Given the description of an element on the screen output the (x, y) to click on. 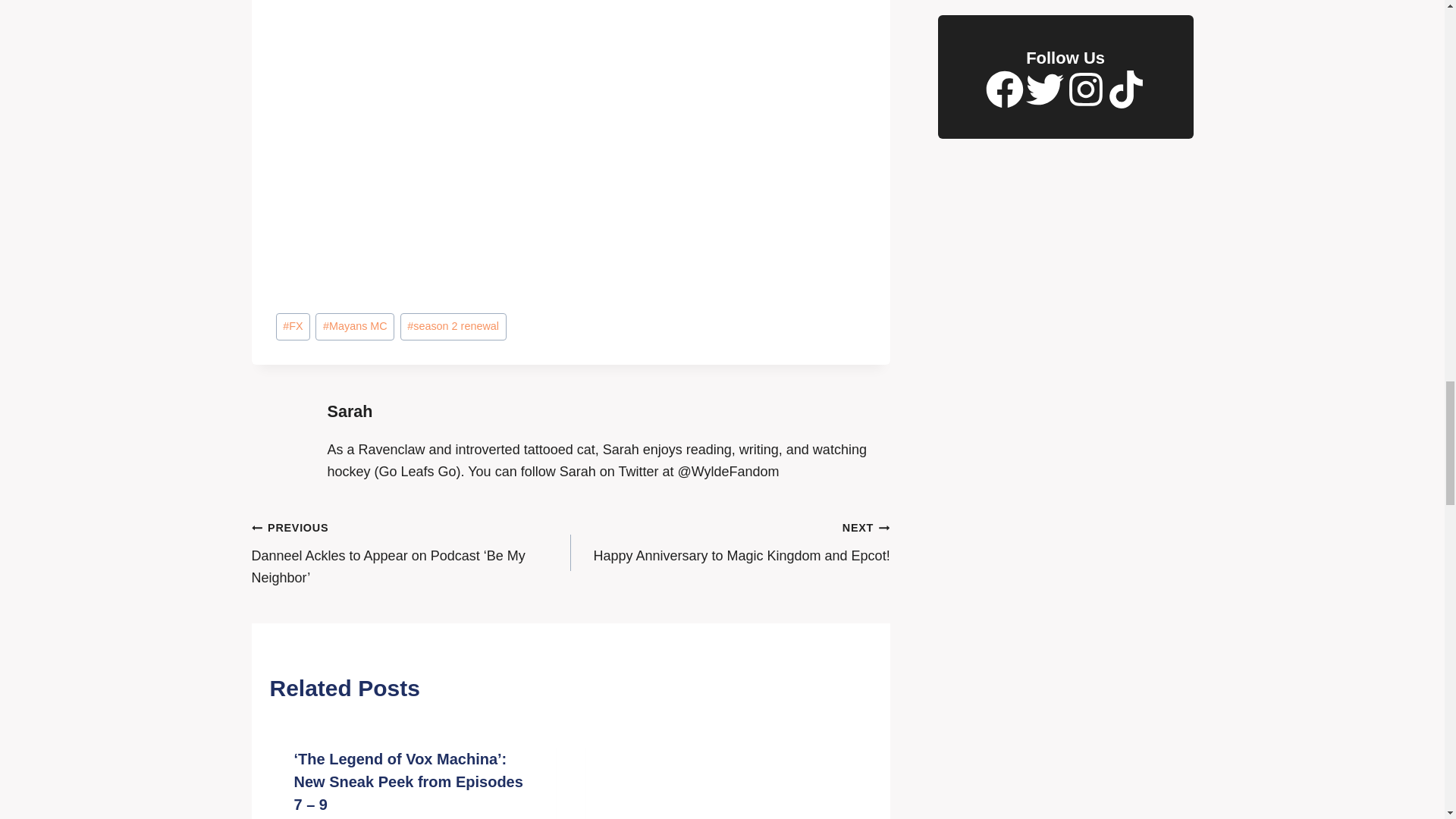
FX (293, 326)
season 2 renewal (453, 326)
Mayans MC (354, 326)
Posts by Sarah (349, 411)
